Given the description of an element on the screen output the (x, y) to click on. 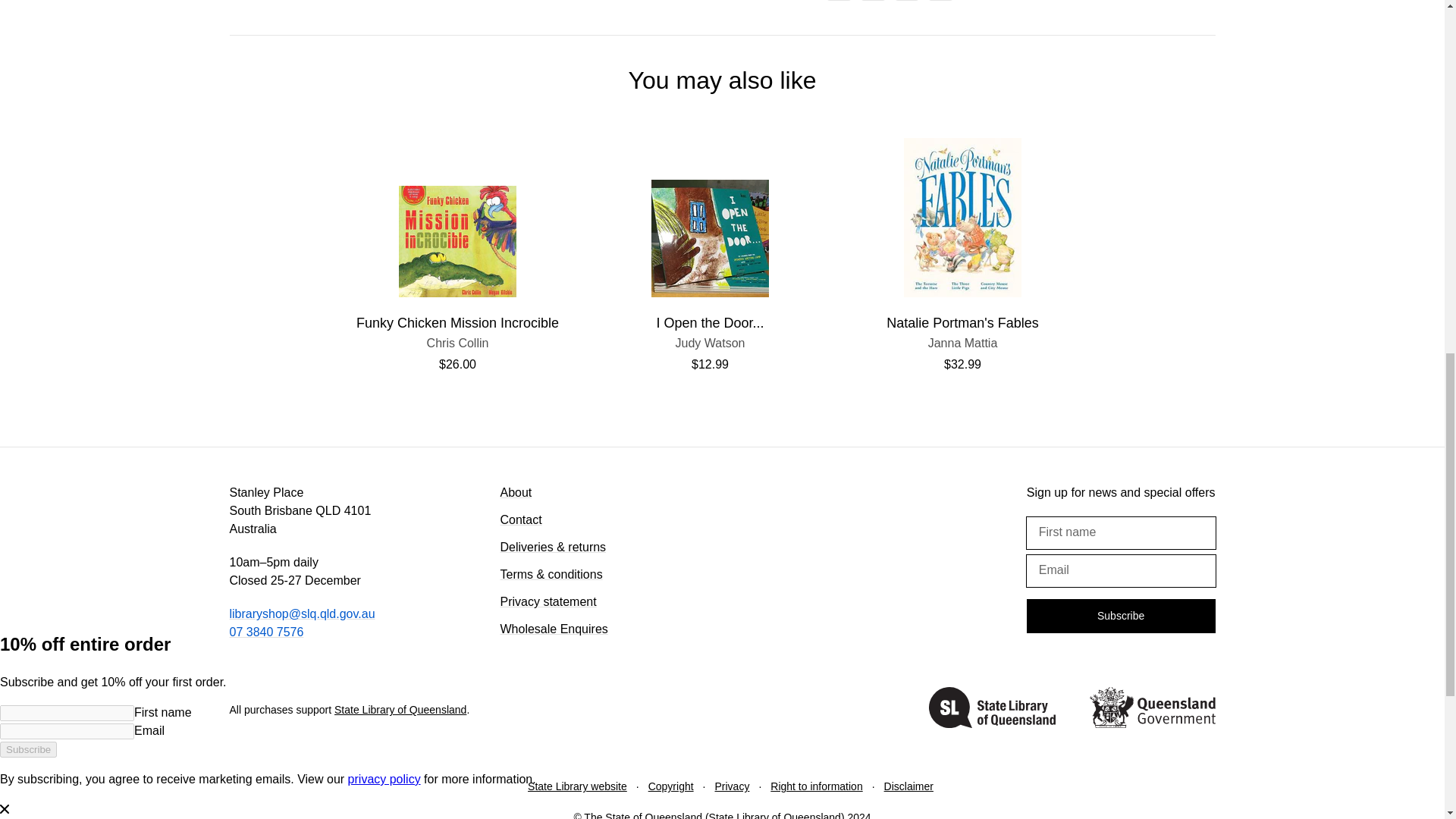
Go to Queensland State Library homepage (457, 342)
tel:07 3840 7576 (992, 710)
Go to Queensland Government homepage (710, 342)
